Given the description of an element on the screen output the (x, y) to click on. 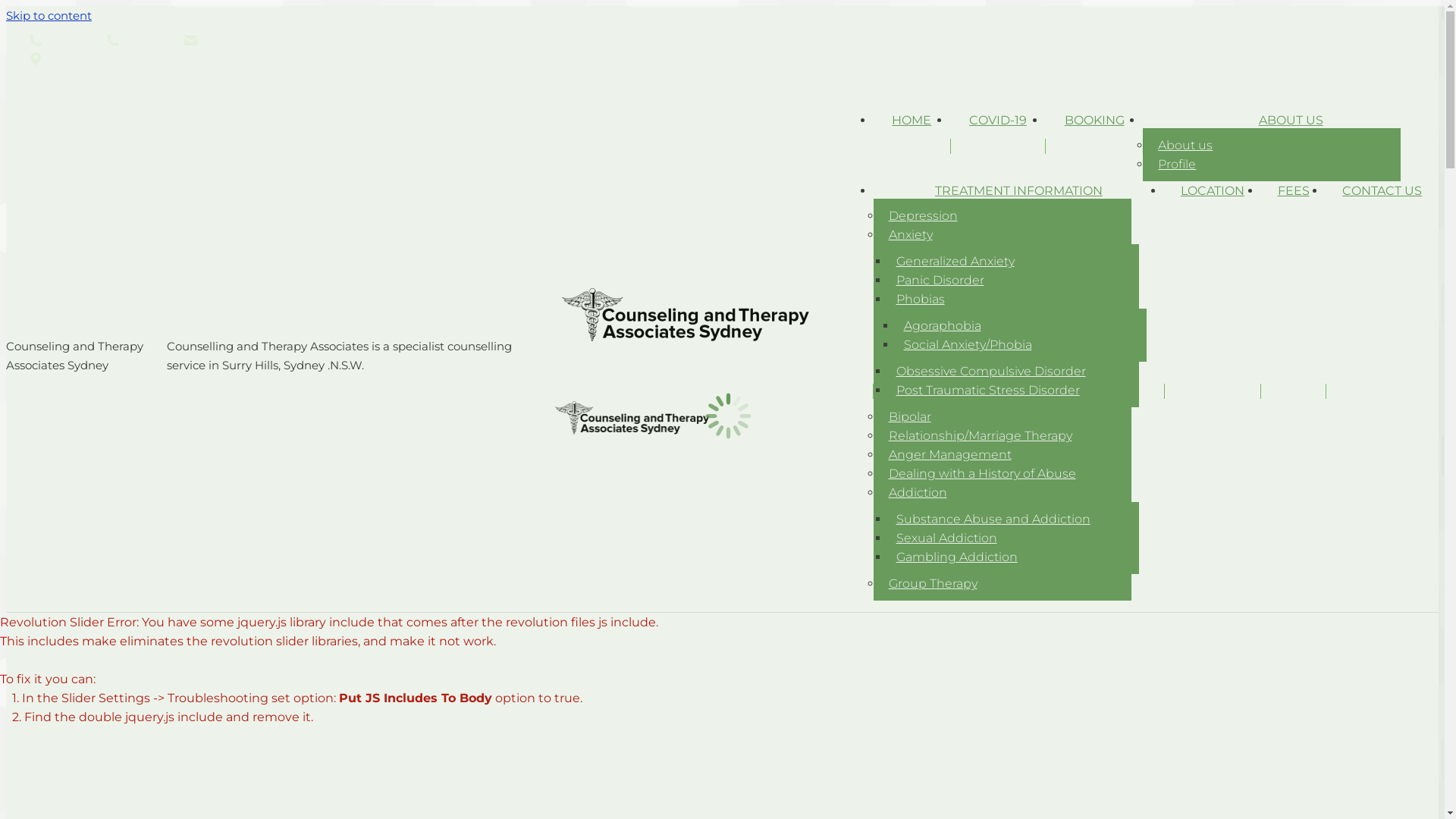
TREATMENT INFORMATION Element type: text (1018, 190)
Skip to content Element type: text (722, 15)
CONTACT US Element type: text (1381, 190)
BOOKING Element type: text (1094, 119)
Anxiety Element type: text (913, 234)
Generalized Anxiety Element type: text (955, 261)
Addiction Element type: text (920, 492)
Profile Element type: text (1176, 163)
Facebook Element type: text (62, 81)
ABOUT US Element type: text (1290, 120)
COVID-19 Element type: text (997, 119)
Gambling Addiction Element type: text (956, 556)
Dealing with a History of Abuse Element type: text (982, 473)
Bipolar Element type: text (909, 416)
Obsessive Compulsive Disorder Element type: text (990, 370)
Depression Element type: text (923, 215)
About us Element type: text (1185, 145)
Agoraphobia Element type: text (942, 325)
Substance Abuse and Addiction Element type: text (993, 518)
Twitter Element type: text (124, 81)
FEES Element type: text (1293, 190)
Panic Disorder Element type: text (939, 279)
Dribbble Element type: text (184, 81)
Group Therapy Element type: text (933, 583)
Post Traumatic Stress Disorder Element type: text (987, 389)
LOCATION Element type: text (1212, 190)
Social Anxiety/Phobia Element type: text (967, 344)
Relationship/Marriage Therapy Element type: text (980, 435)
Phobias Element type: text (923, 298)
HOME Element type: text (911, 119)
Sexual Addiction Element type: text (946, 537)
Anger Management Element type: text (950, 454)
